Given the description of an element on the screen output the (x, y) to click on. 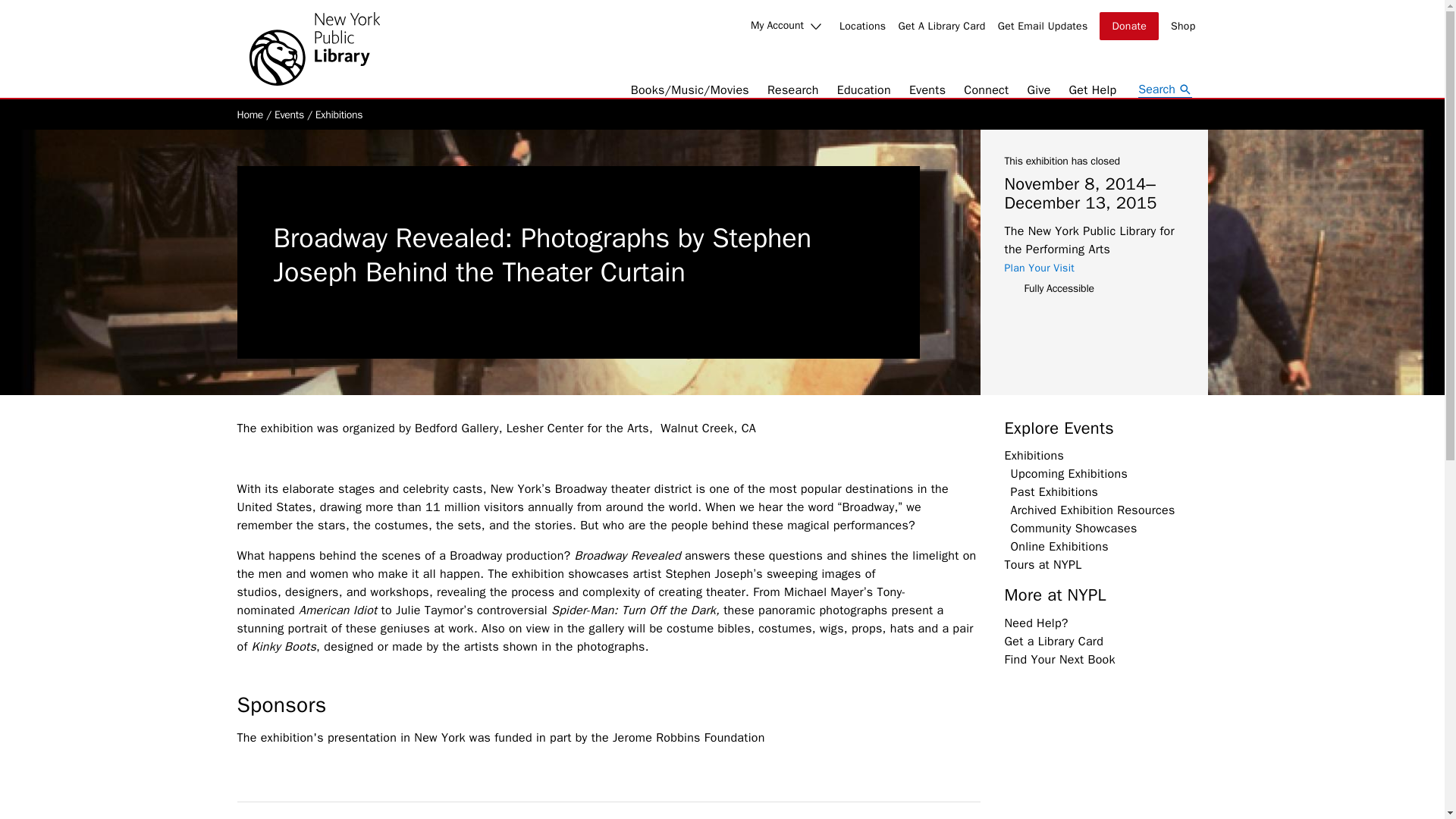
Education (864, 89)
Exhibitions (338, 114)
Shop (1182, 25)
Online Exhibitions (1059, 546)
Need Help? (1035, 622)
Upcoming Exhibitions (1068, 473)
Search (1164, 89)
Find Your Next Book (1059, 659)
Research (792, 89)
Get Email Updates (1042, 25)
Events (926, 89)
NYPL Header Logo (313, 48)
Exhibitions (1033, 455)
NYPL Header Logo (314, 48)
Events (289, 114)
